Given the description of an element on the screen output the (x, y) to click on. 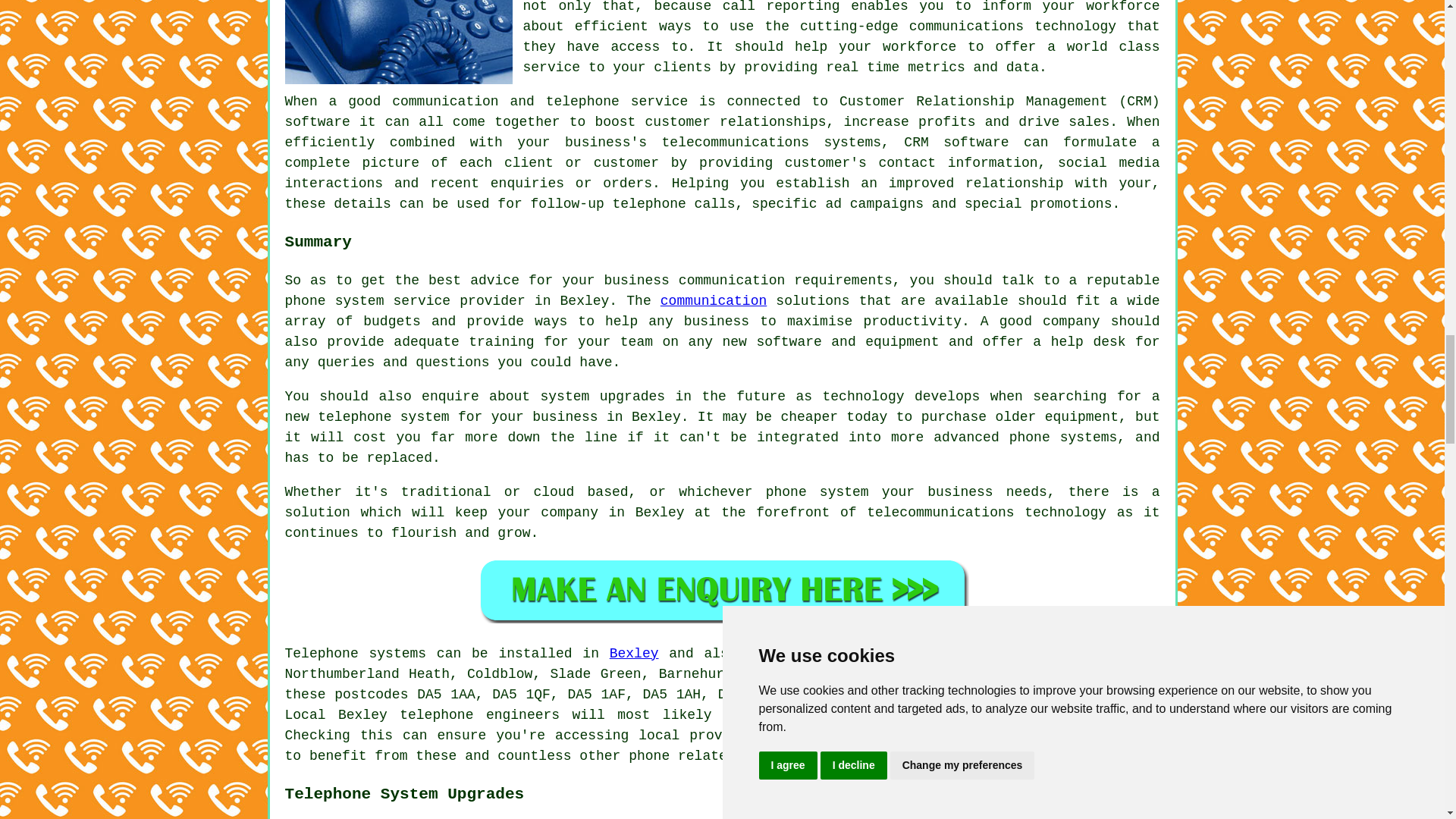
Book a Telephone Engineer in Bexley UK (722, 589)
telephone engineers (478, 713)
telephone systems (869, 735)
Telephone systems (355, 653)
